Given the description of an element on the screen output the (x, y) to click on. 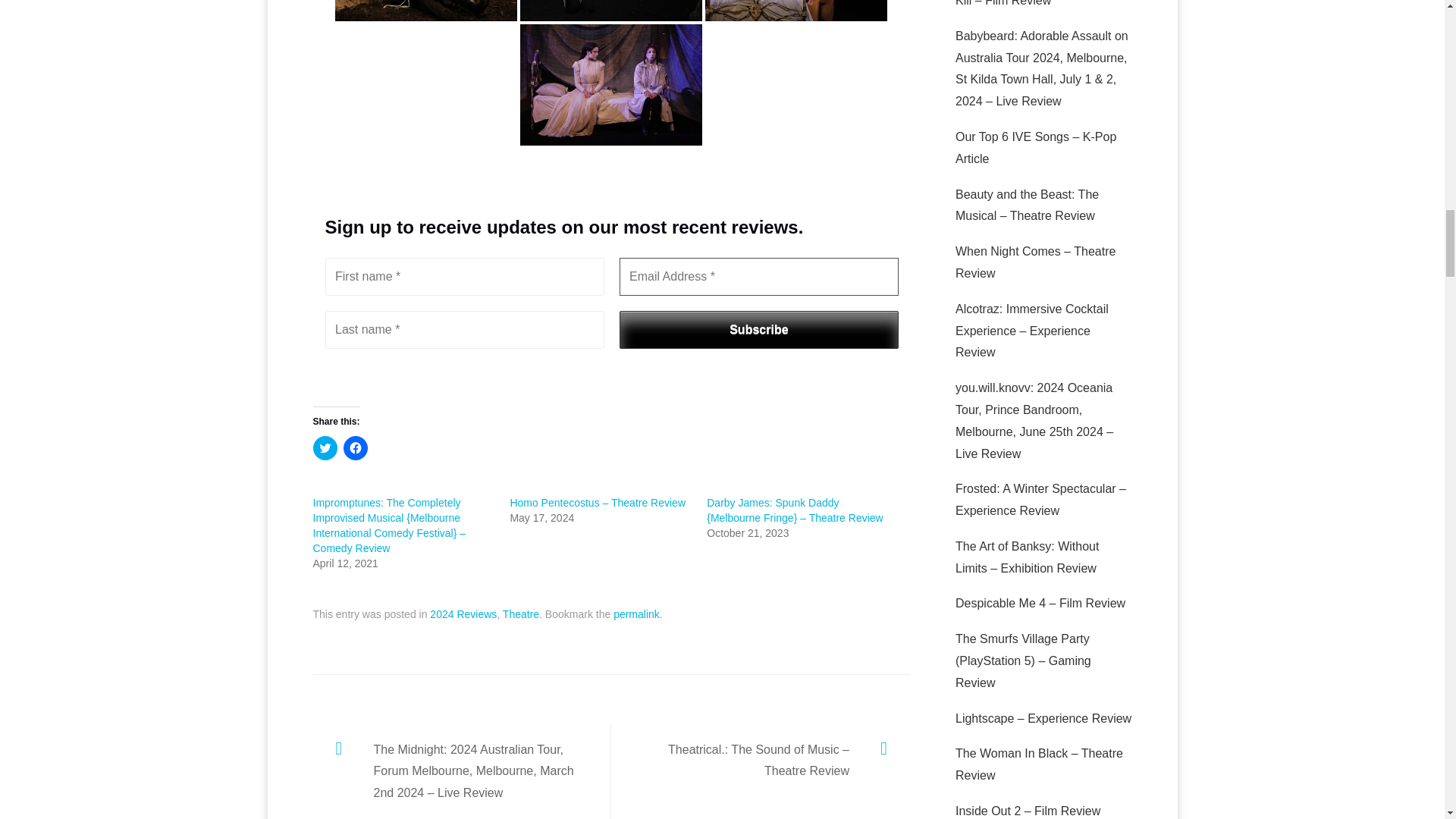
Theatre (520, 613)
Subscribe (758, 329)
Photography By Jeff Busby (425, 10)
permalink (635, 613)
Photography By Jeff Busby (610, 10)
2024 Reviews (462, 613)
Subscribe (758, 329)
Photography By Jeff Busby (795, 10)
